Given the description of an element on the screen output the (x, y) to click on. 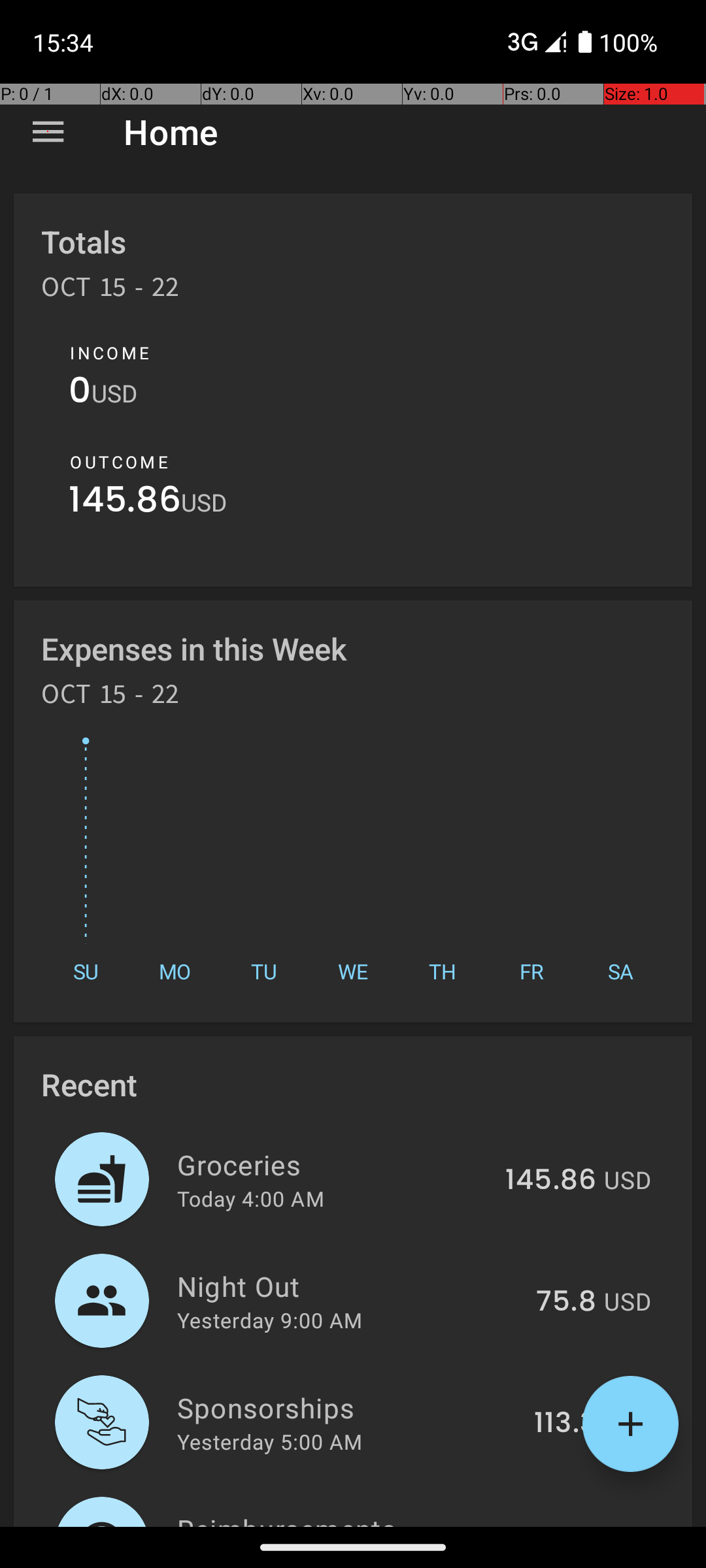
Totals Element type: android.widget.TextView (83, 240)
OCT 15 - 22 Element type: android.widget.TextView (110, 291)
INCOME Element type: android.widget.TextView (109, 352)
USD Element type: android.widget.TextView (114, 392)
OUTCOME Element type: android.widget.TextView (118, 461)
145.86 Element type: android.widget.TextView (124, 502)
Expenses in this Week Element type: android.widget.TextView (194, 648)
Recent Element type: android.widget.TextView (89, 1083)
Groceries Element type: android.widget.TextView (333, 1164)
Today 4:00 AM Element type: android.widget.TextView (250, 1198)
Night Out Element type: android.widget.TextView (348, 1285)
Yesterday 9:00 AM Element type: android.widget.TextView (269, 1320)
75.8 Element type: android.widget.TextView (565, 1301)
Sponsorships Element type: android.widget.TextView (347, 1407)
Yesterday 5:00 AM Element type: android.widget.TextView (269, 1441)
113.3 Element type: android.widget.TextView (564, 1423)
Reimbursements Element type: android.widget.TextView (331, 1518)
386.97 Element type: android.widget.TextView (548, 1524)
